Given the description of an element on the screen output the (x, y) to click on. 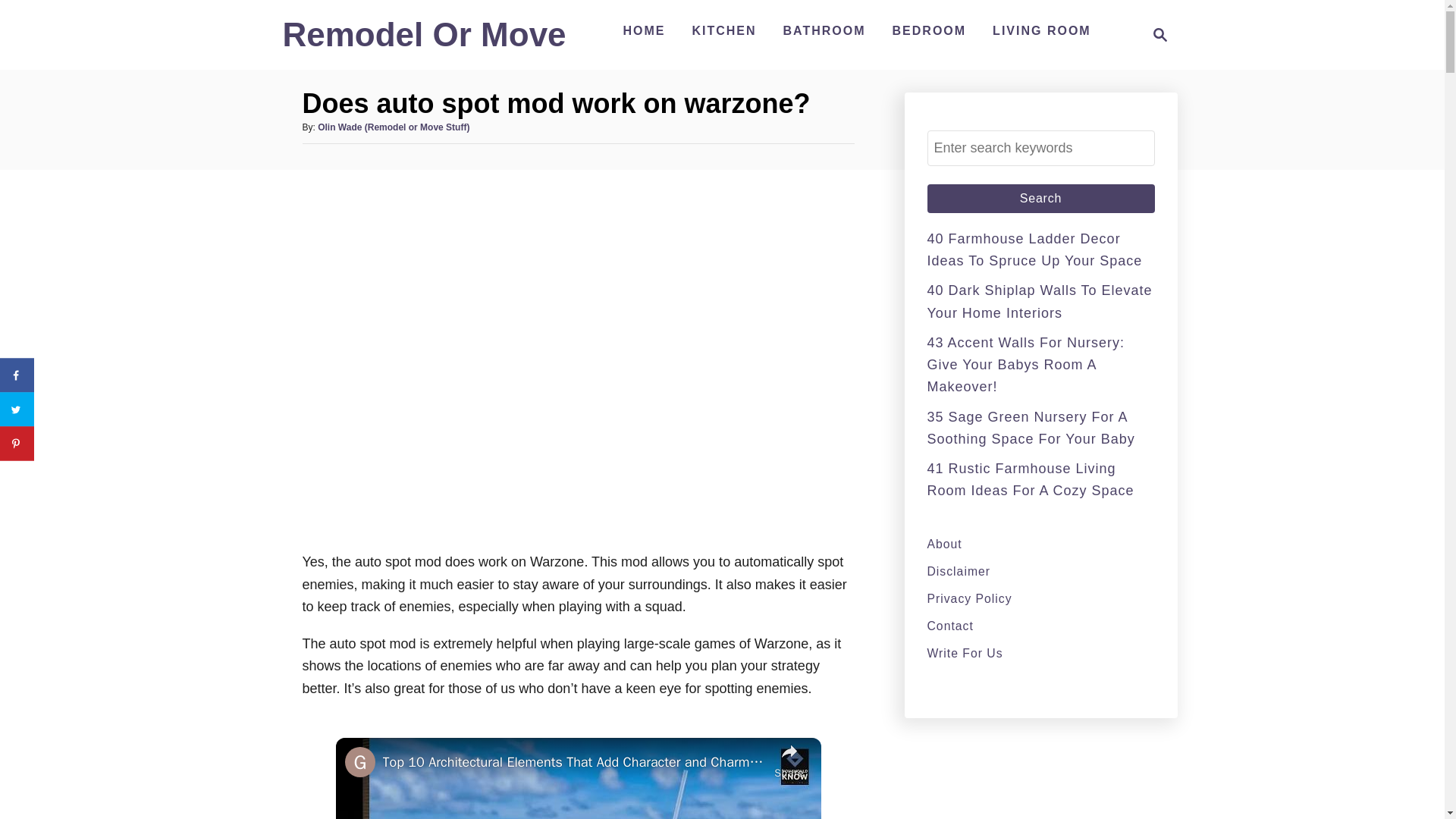
HOME (643, 30)
35 Sage Green Nursery For A Soothing Space For Your Baby (1030, 427)
About (1040, 543)
Disclaimer (1040, 570)
KITCHEN (723, 30)
40 Farmhouse Ladder Decor Ideas To Spruce Up Your Space (1033, 249)
41 Rustic Farmhouse Living Room Ideas For A Cozy Space (1030, 479)
BEDROOM (929, 30)
Privacy Policy (1040, 598)
Search for: (1040, 148)
40 Dark Shiplap Walls To Elevate Your Home Interiors (1038, 301)
Remodel Or Move (424, 41)
